Given the description of an element on the screen output the (x, y) to click on. 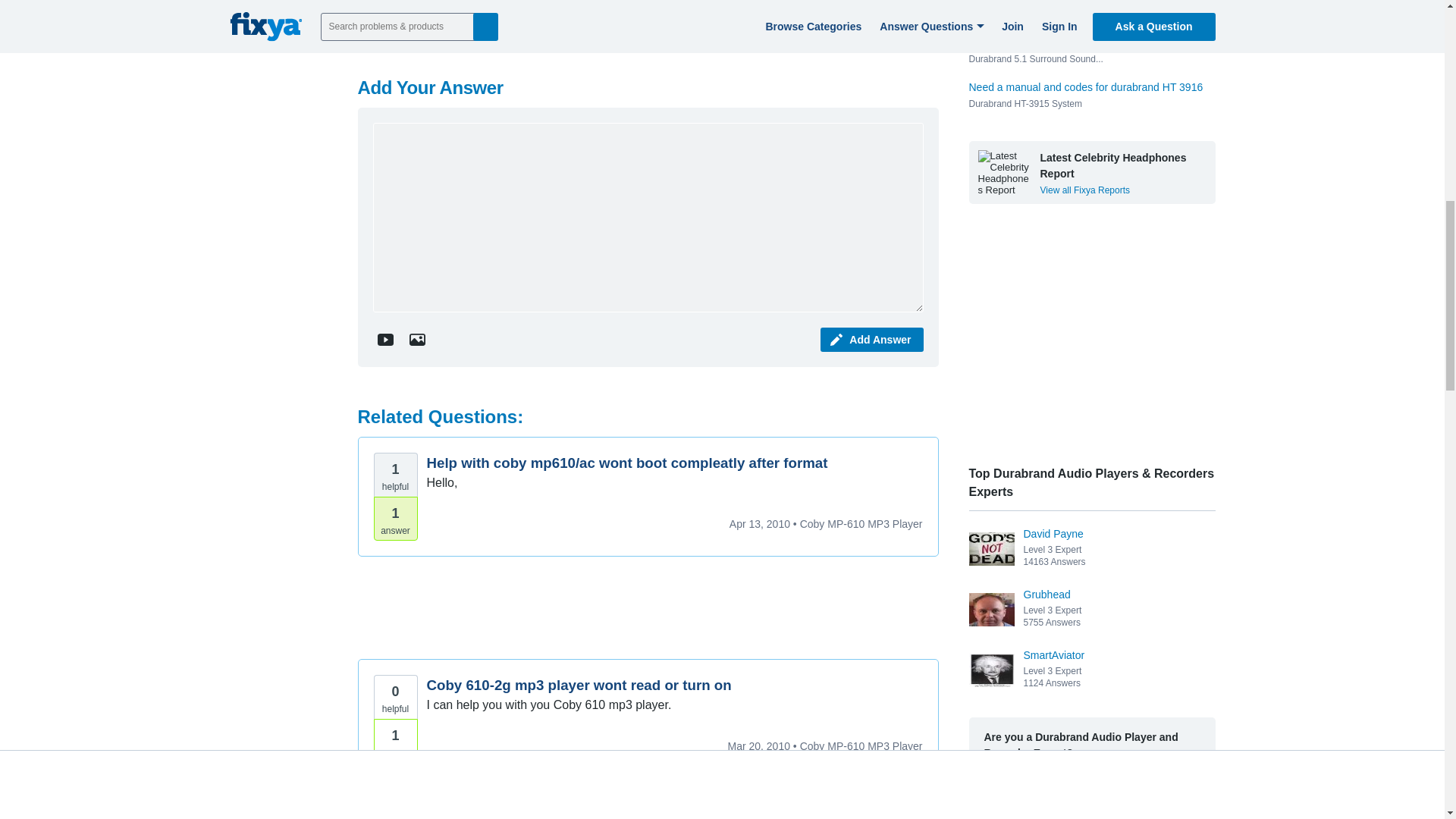
Add Answer (872, 339)
